Given the description of an element on the screen output the (x, y) to click on. 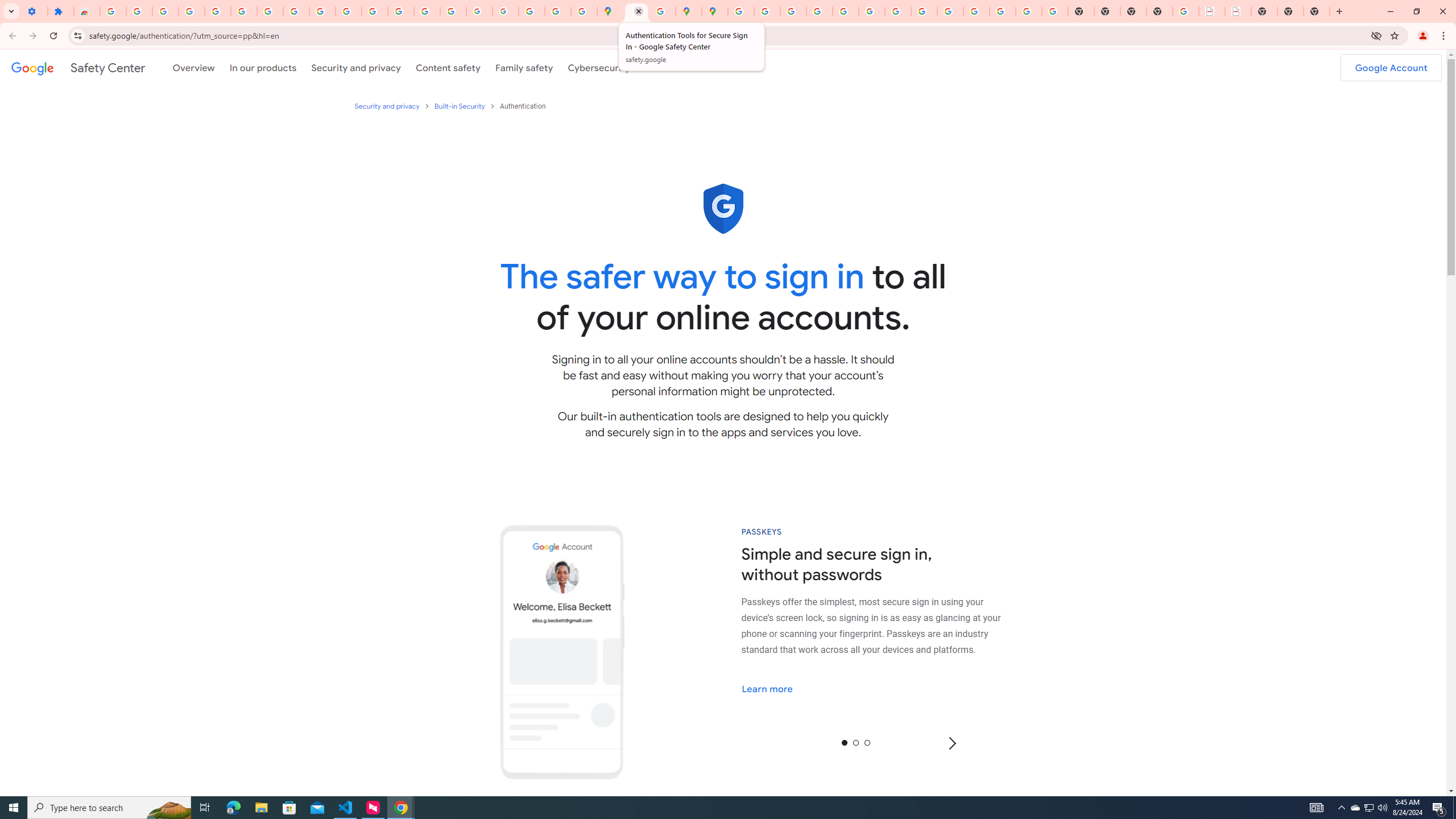
Settings - On startup (34, 11)
Sign in - Google Accounts (112, 11)
Security and privacy (356, 67)
LAAD Defence & Security 2025 | BAE Systems (1211, 11)
Family safety (523, 67)
Sign in - Google Accounts (243, 11)
AutomationID: passkeys-module-1 (884, 624)
0 (844, 742)
